Given the description of an element on the screen output the (x, y) to click on. 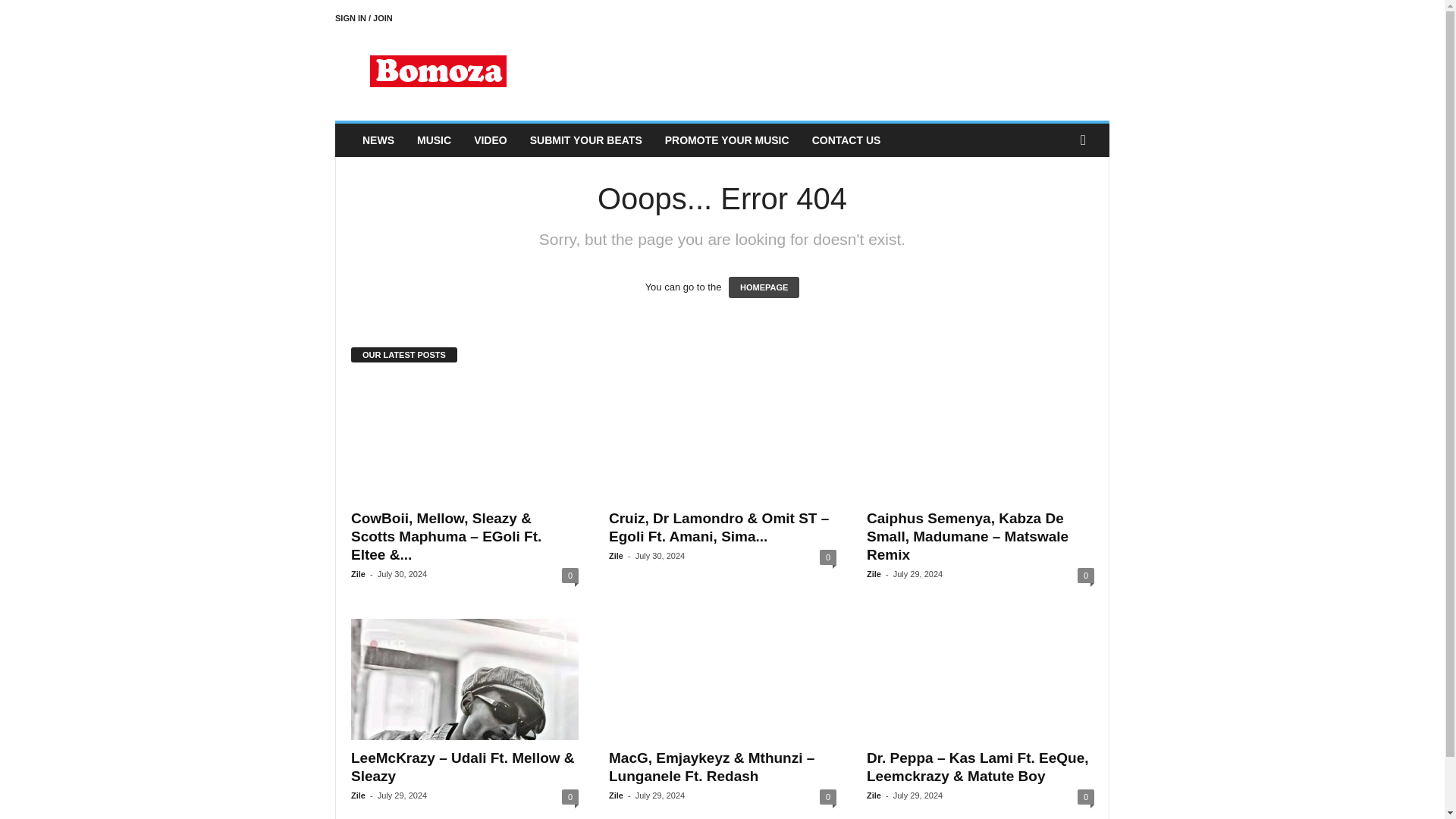
PROMOTE YOUR MUSIC (726, 140)
NEWS (378, 140)
Zile (357, 795)
0 (570, 575)
VIDEO (490, 140)
HOMEPAGE (764, 287)
0 (570, 796)
SUBMIT YOUR BEATS (585, 140)
Zile (873, 573)
MUSIC (434, 140)
Bomoza (437, 70)
Zile (615, 555)
0 (827, 557)
Zile (357, 573)
0 (1085, 575)
